Given the description of an element on the screen output the (x, y) to click on. 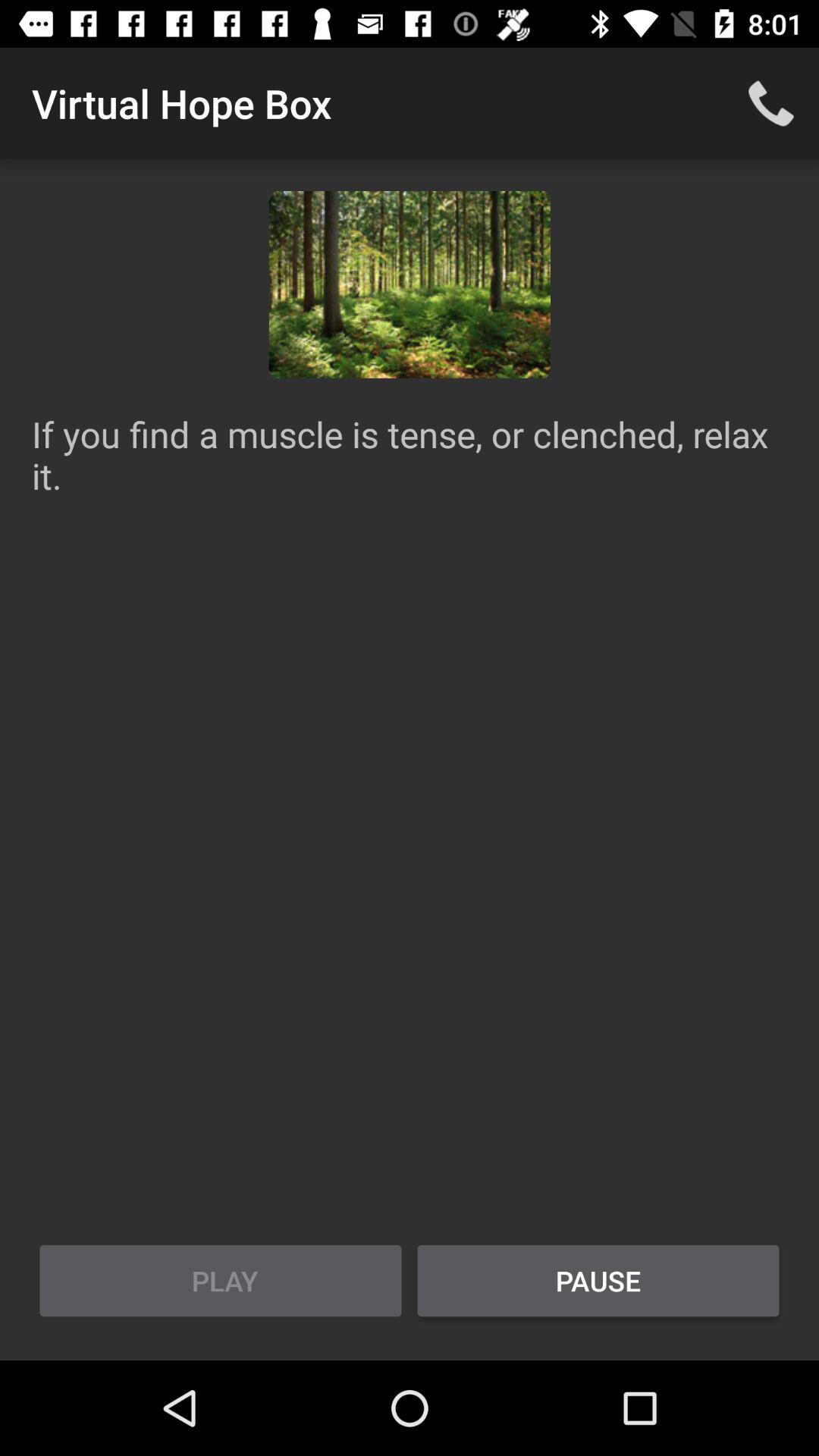
open icon at the top right corner (771, 103)
